Given the description of an element on the screen output the (x, y) to click on. 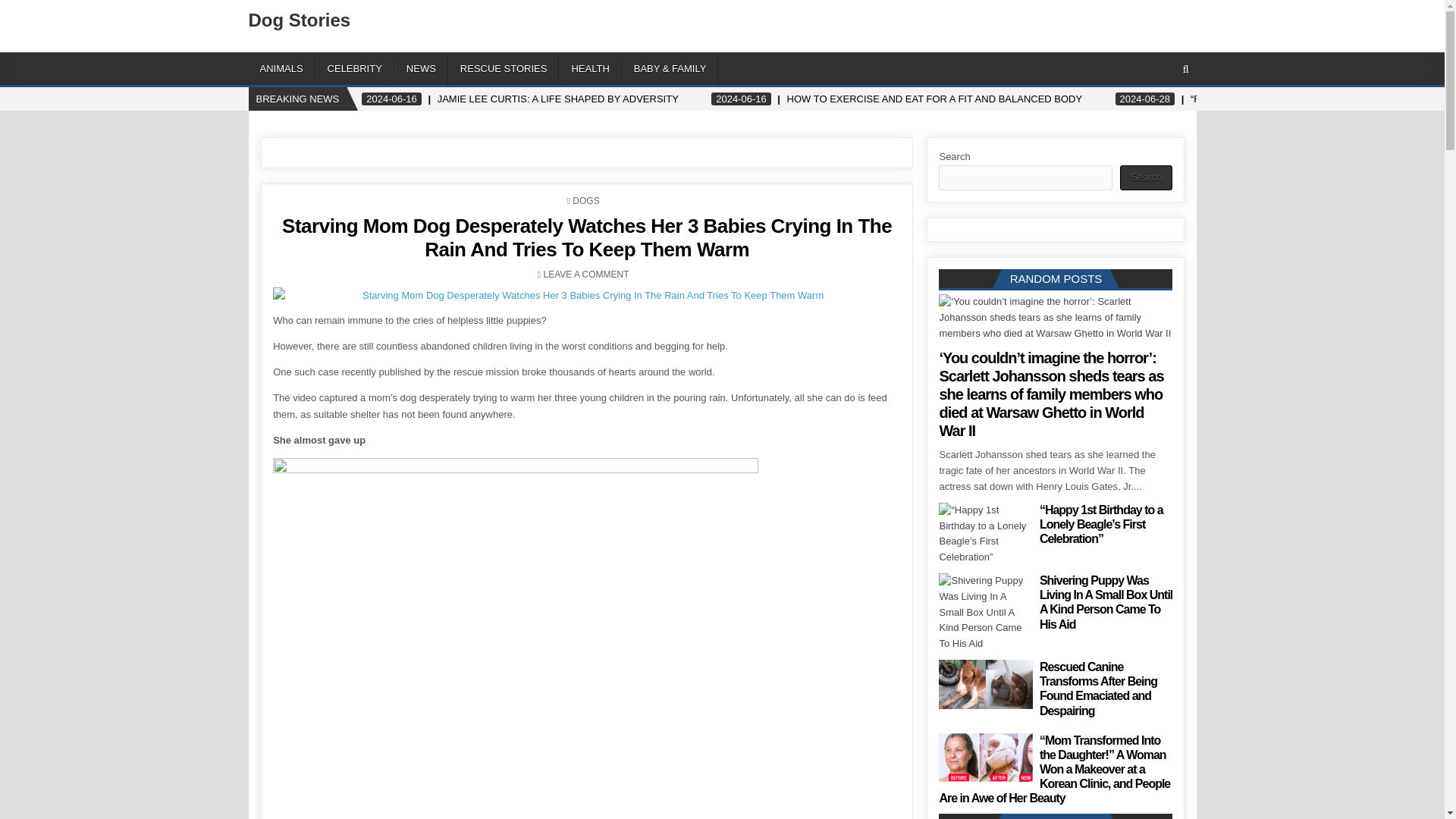
NEWS (421, 68)
CELEBRITY (354, 68)
DOGS (585, 200)
RESCUE STORIES (503, 68)
2024-06-16 JAMIE LEE CURTIS: A LIFE SHAPED BY ADVERSITY (520, 98)
ANIMALS (281, 68)
HEALTH (590, 68)
LEAVE A COMMENT (585, 274)
Dog Stories (299, 19)
